Given the description of an element on the screen output the (x, y) to click on. 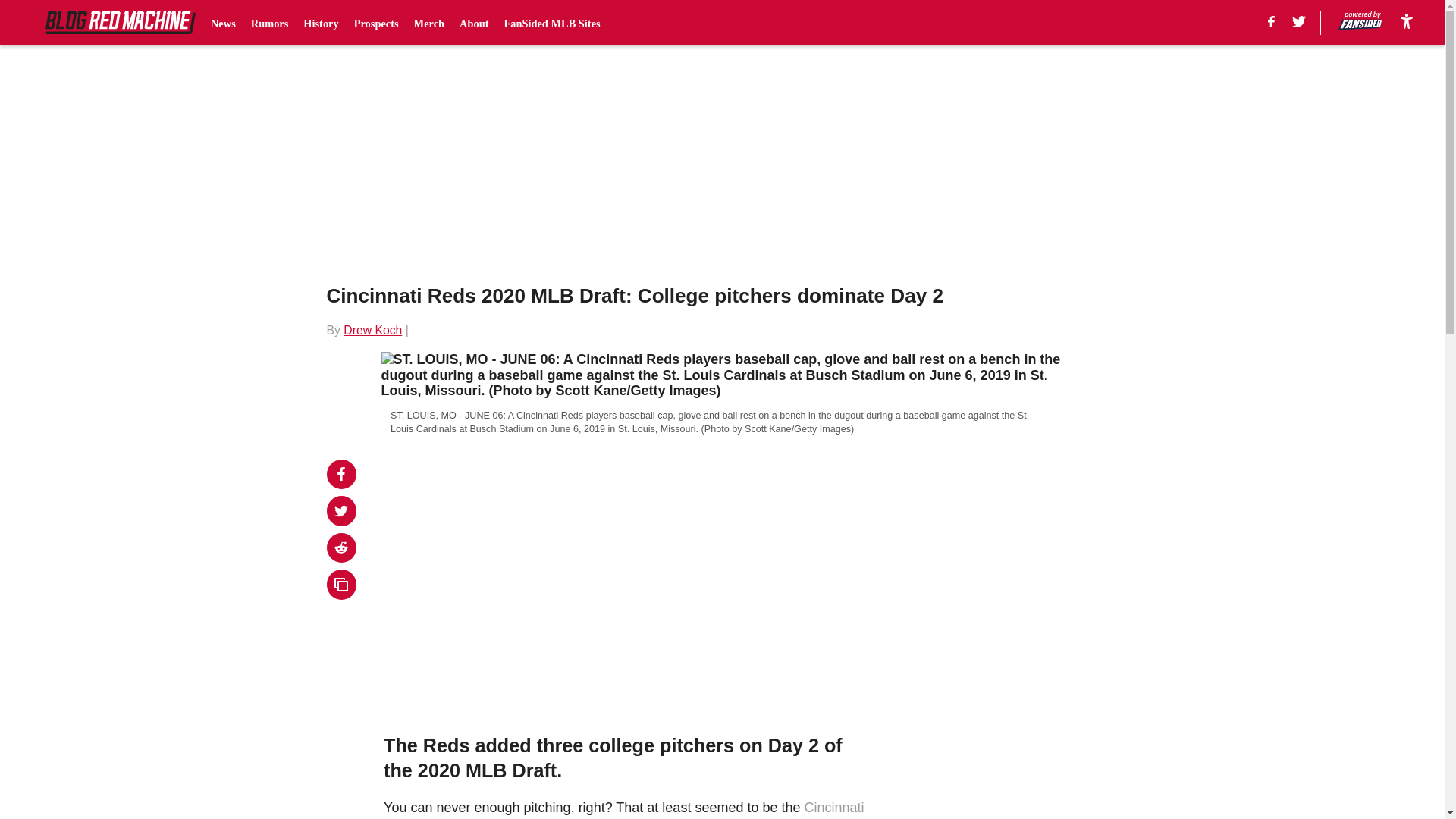
Merch (429, 23)
Rumors (269, 23)
Cincinnati Reds (623, 809)
News (223, 23)
Prospects (375, 23)
Drew Koch (372, 329)
History (319, 23)
About (473, 23)
FanSided MLB Sites (551, 23)
